Given the description of an element on the screen output the (x, y) to click on. 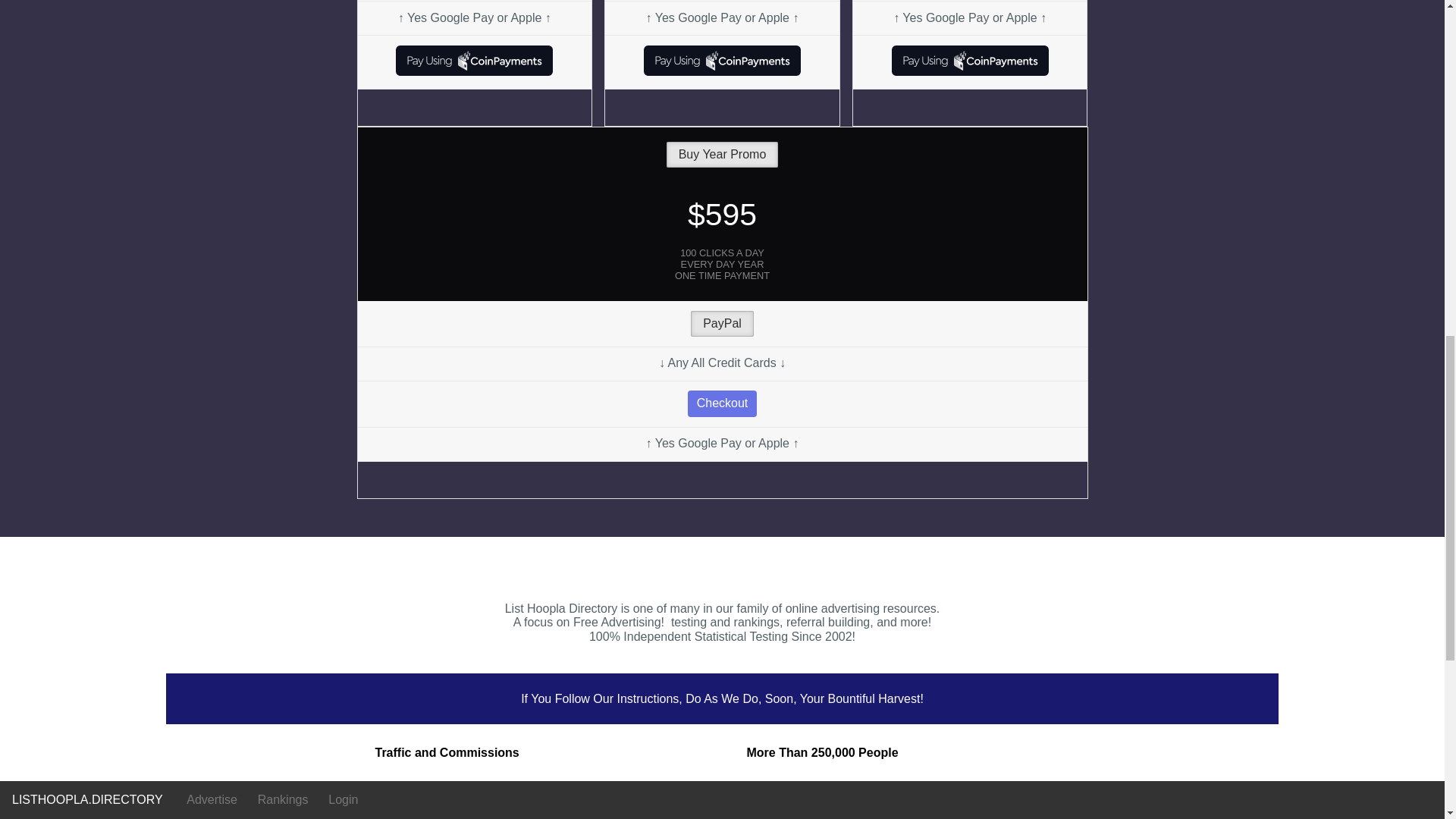
Checkout (722, 403)
Buy Year Promo (722, 154)
PayPal (722, 323)
